Given the description of an element on the screen output the (x, y) to click on. 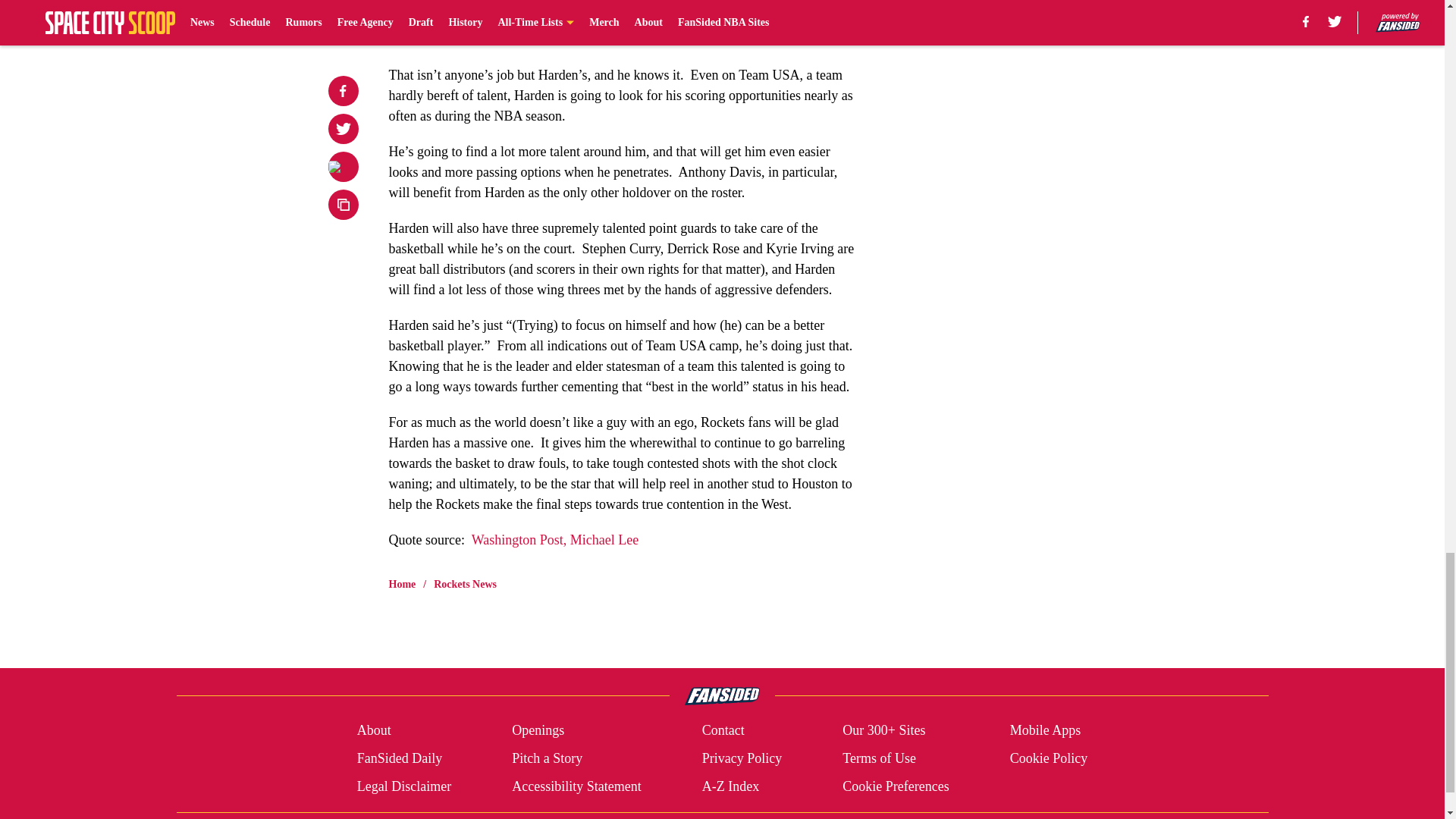
Washington Post, Michael Lee (555, 539)
Privacy Policy (742, 758)
Accessibility Statement (576, 786)
Mobile Apps (1045, 730)
A-Z Index (729, 786)
About (373, 730)
Rockets News (464, 584)
Terms of Use (879, 758)
Legal Disclaimer (403, 786)
Pitch a Story (547, 758)
